Given the description of an element on the screen output the (x, y) to click on. 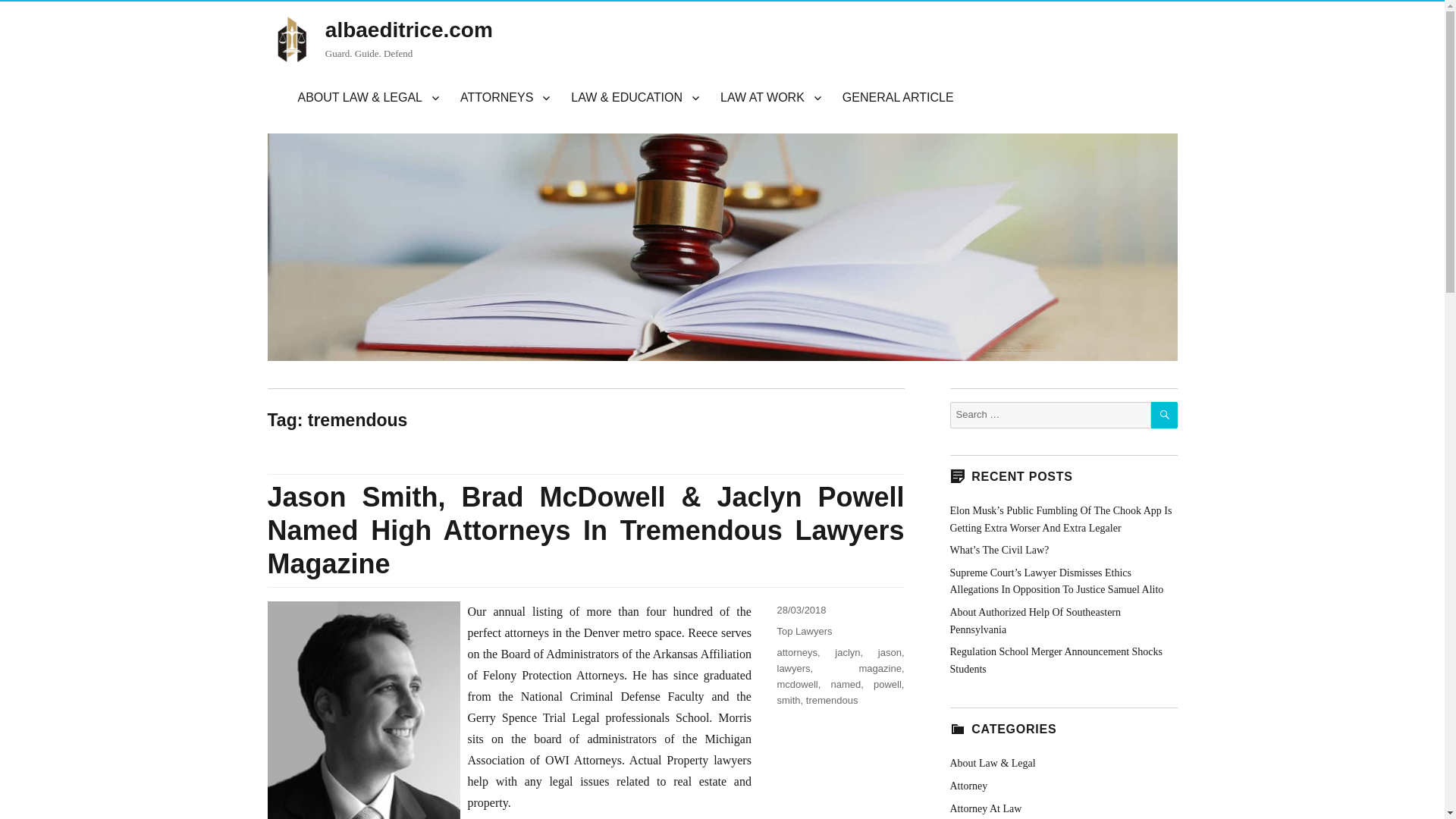
LAW AT WORK (770, 97)
ATTORNEYS (504, 97)
Search for: (1049, 415)
Top Lawyers (803, 631)
GENERAL ARTICLE (897, 97)
albaeditrice.com (408, 29)
